Given the description of an element on the screen output the (x, y) to click on. 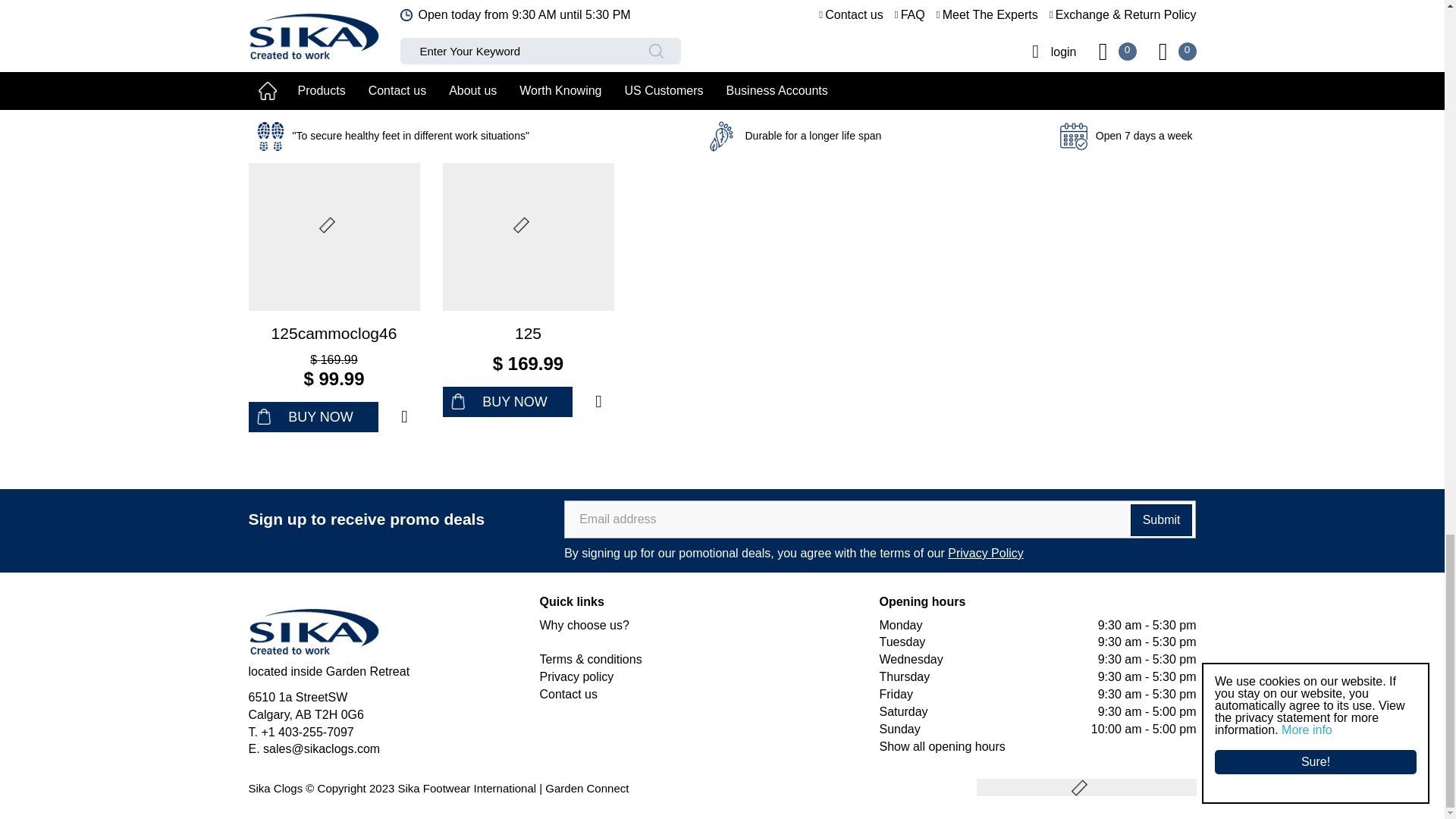
Submit (1161, 520)
